Given the description of an element on the screen output the (x, y) to click on. 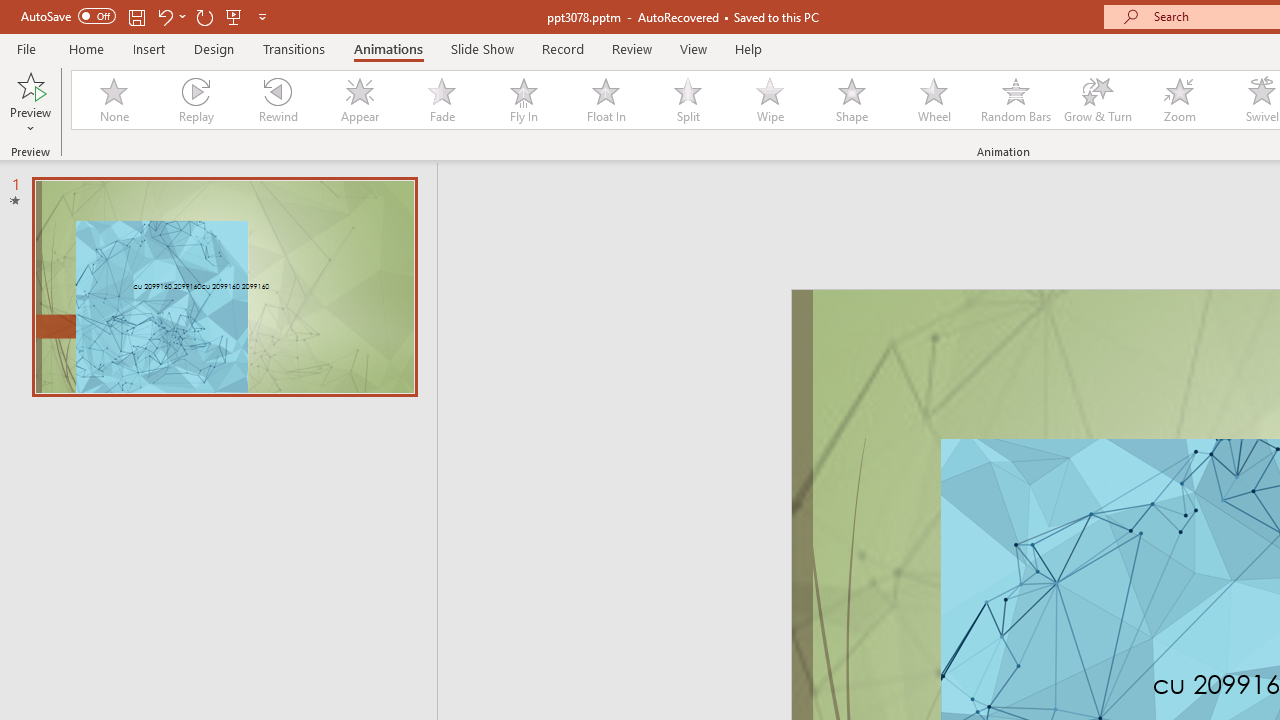
Fly In (523, 100)
Grow & Turn (1098, 100)
